Given the description of an element on the screen output the (x, y) to click on. 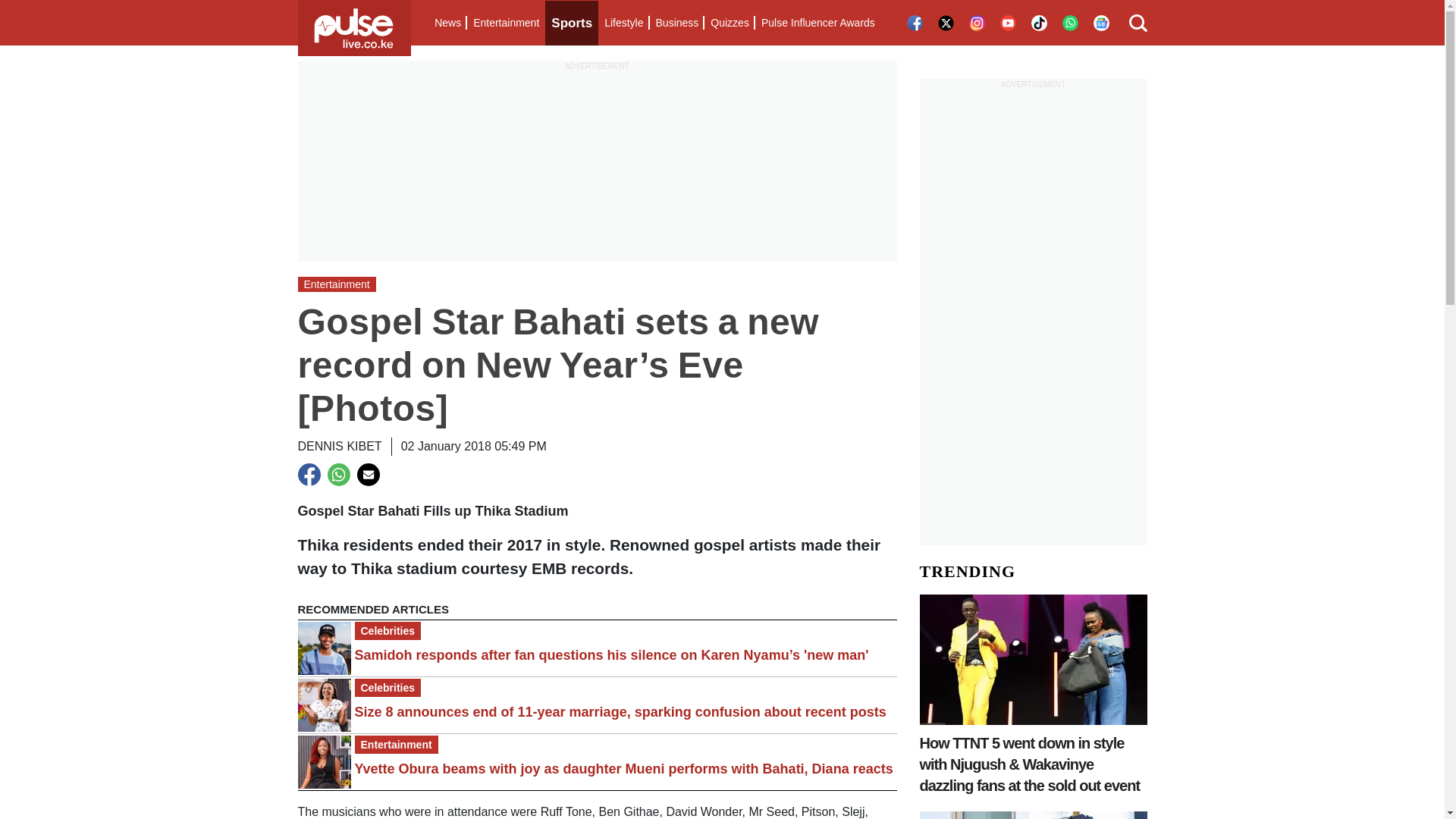
Lifestyle (623, 22)
Pulse Influencer Awards (817, 22)
Quizzes (729, 22)
Sports (571, 22)
Entertainment (505, 22)
Business (676, 22)
